Given the description of an element on the screen output the (x, y) to click on. 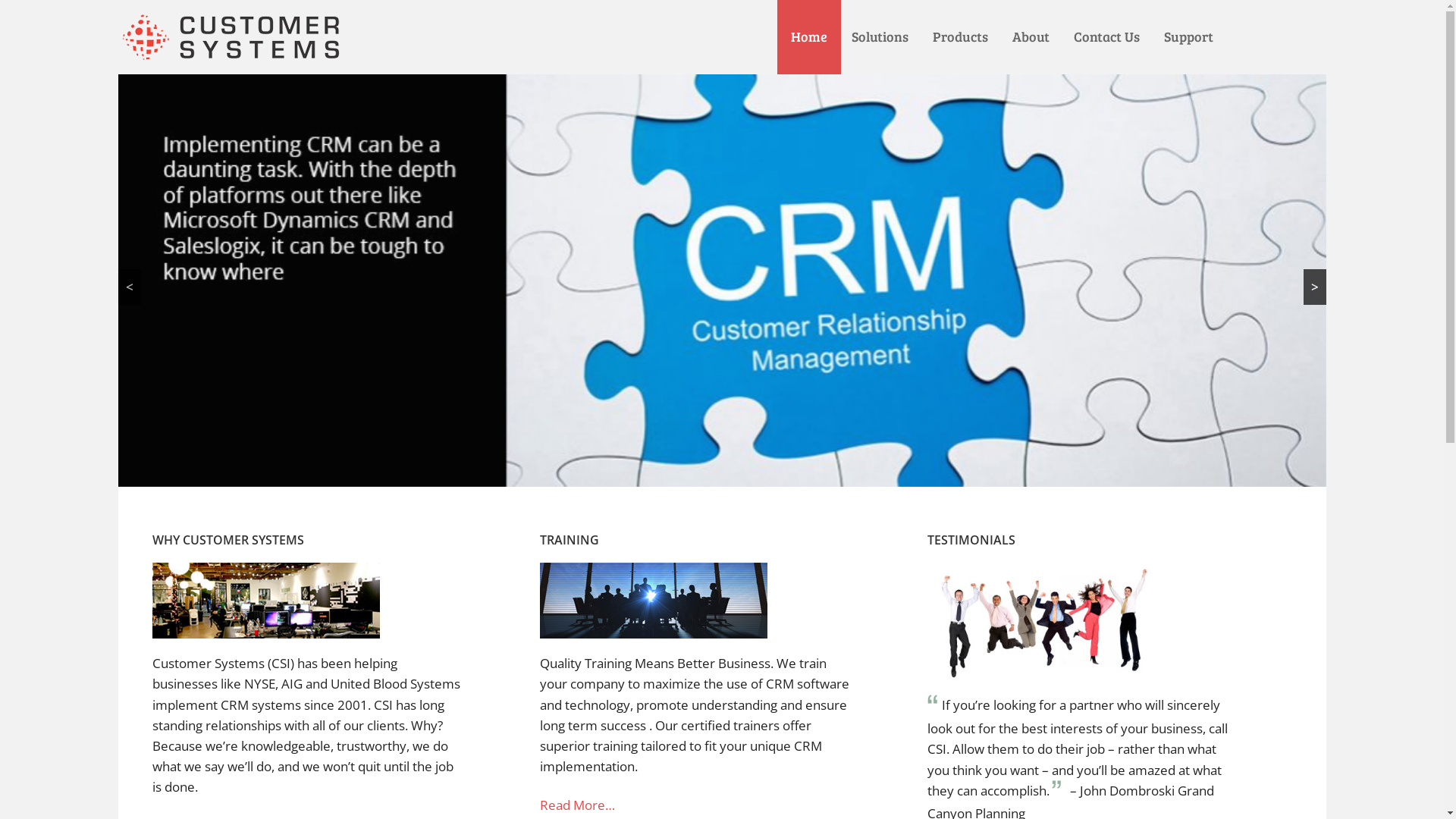
Support Element type: text (1188, 37)
Solutions Element type: text (879, 37)
Contact Us Element type: text (1106, 37)
Products Element type: text (960, 37)
> Element type: text (1314, 286)
About Element type: text (1030, 37)
< Element type: text (129, 286)
Home Element type: text (808, 37)
